Given the description of an element on the screen output the (x, y) to click on. 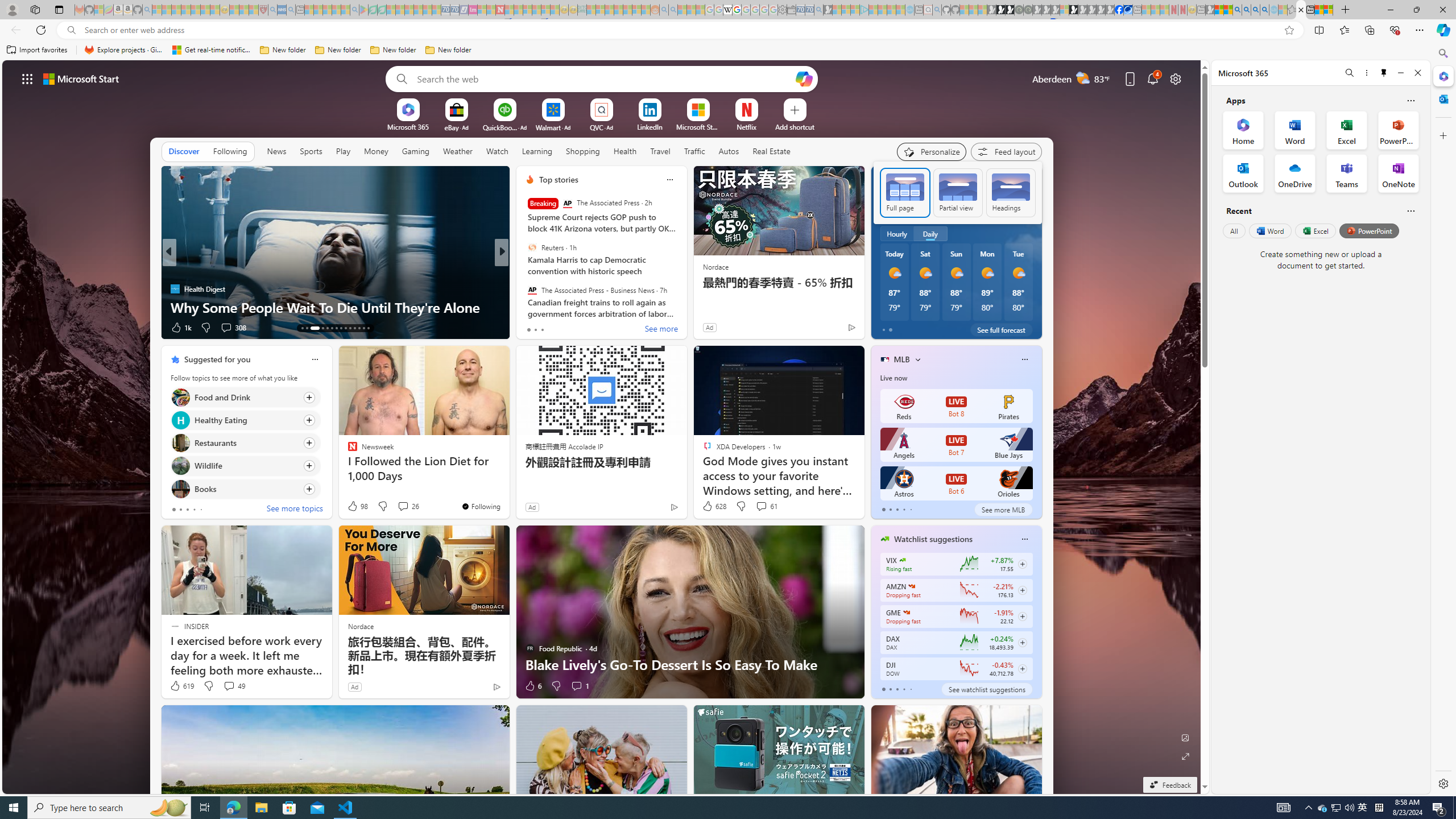
Travel (660, 151)
Travel (660, 151)
Netflix (746, 126)
utah sues federal government - Search - Sleeping (290, 9)
Enter your search term (603, 78)
Learning (537, 151)
New folder (448, 49)
Unpin side pane (1383, 72)
Excel (1315, 230)
google - Search - Sleeping (354, 9)
View comments 84 Comment (580, 327)
